Given the description of an element on the screen output the (x, y) to click on. 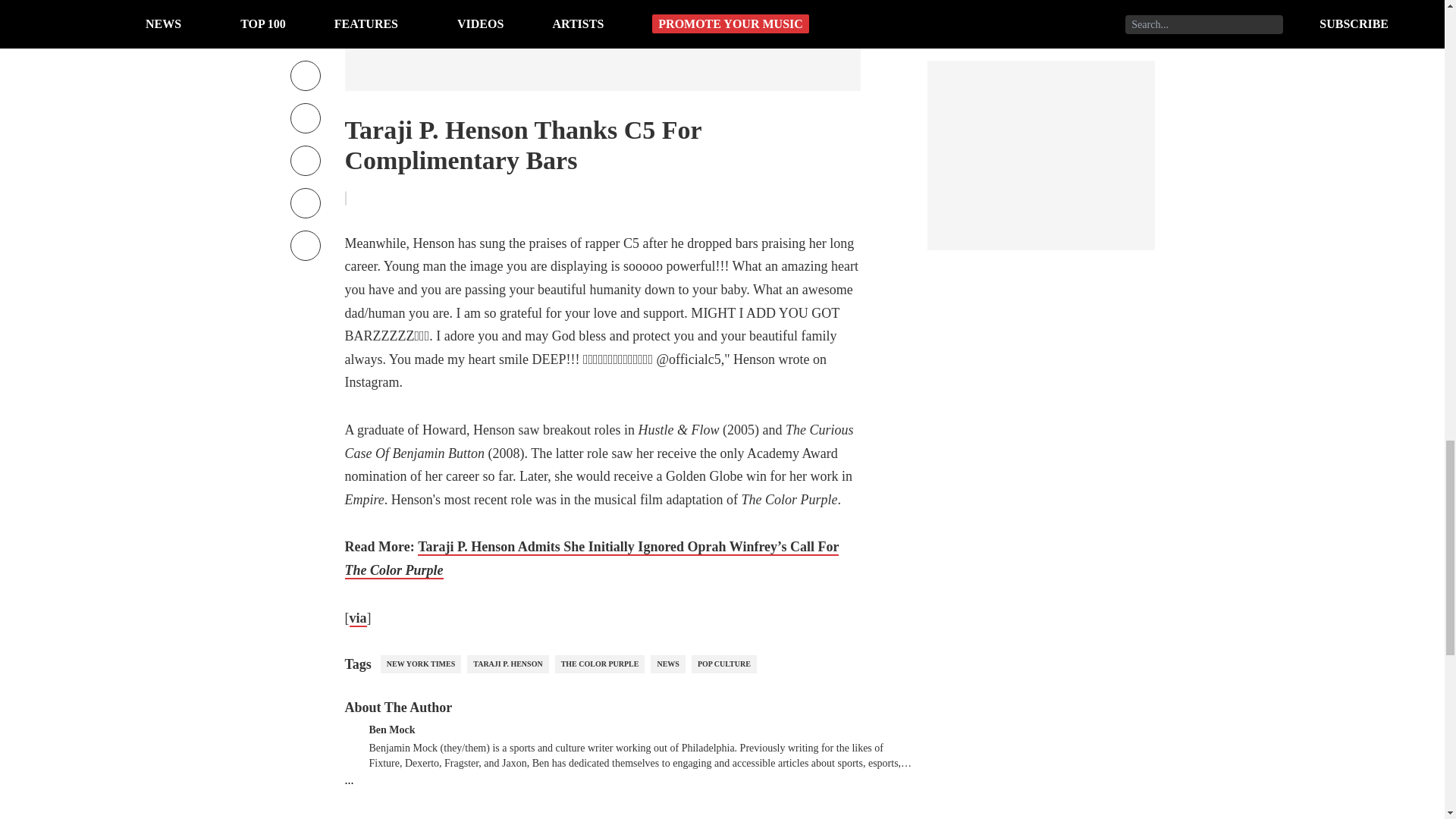
Ben Mock (391, 727)
via (357, 618)
TARAJI P. HENSON (507, 664)
NEWS (667, 664)
POP CULTURE (724, 664)
NEW YORK TIMES (420, 664)
THE COLOR PURPLE (599, 664)
